Given the description of an element on the screen output the (x, y) to click on. 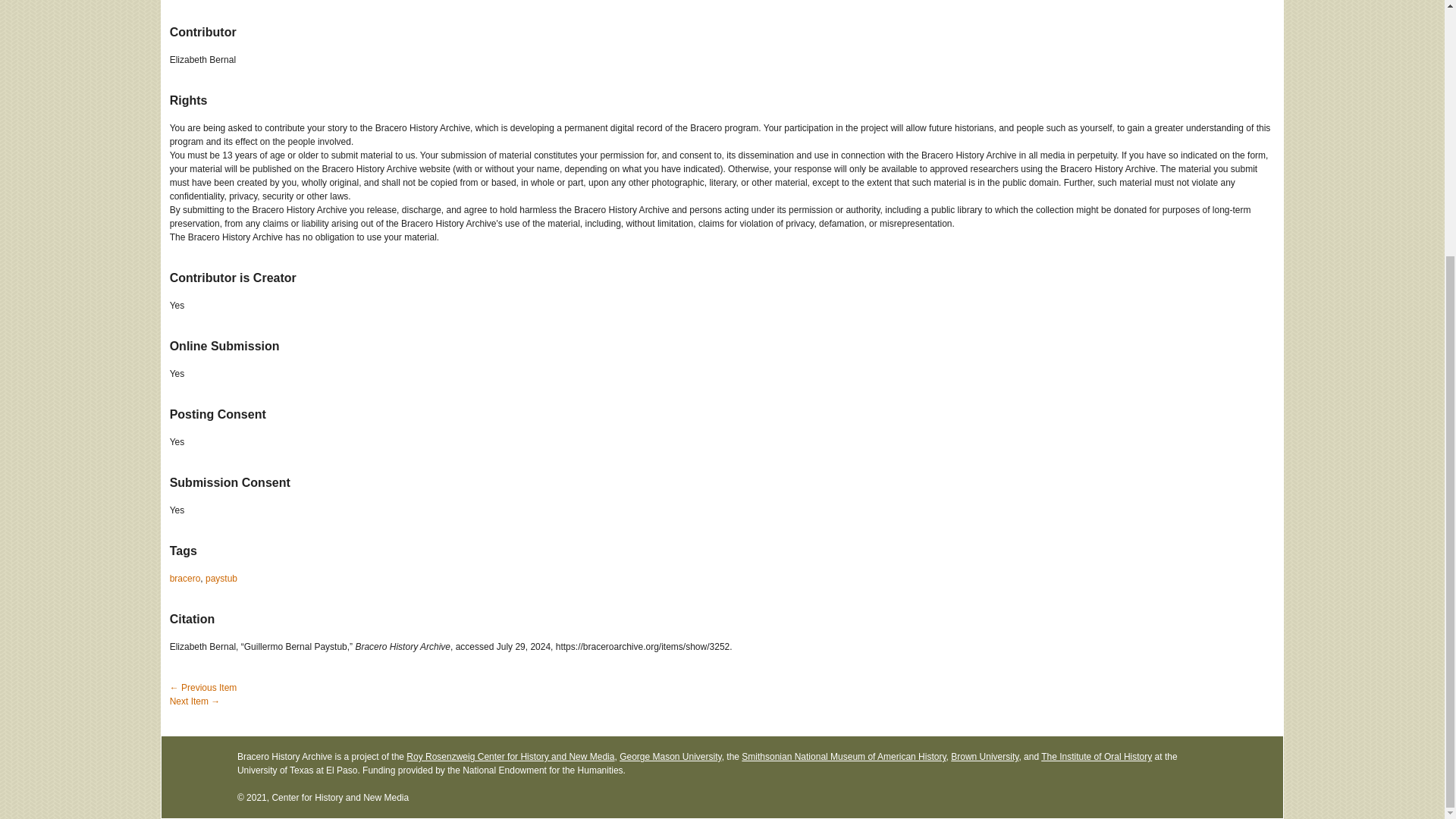
Roy Rosenzweig Center for History and New Media (510, 756)
paystub (221, 578)
Smithsonian National Museum of American History (842, 756)
bracero (185, 578)
Brown University (983, 756)
The Institute of Oral History (1096, 756)
George Mason University (671, 756)
